Given the description of an element on the screen output the (x, y) to click on. 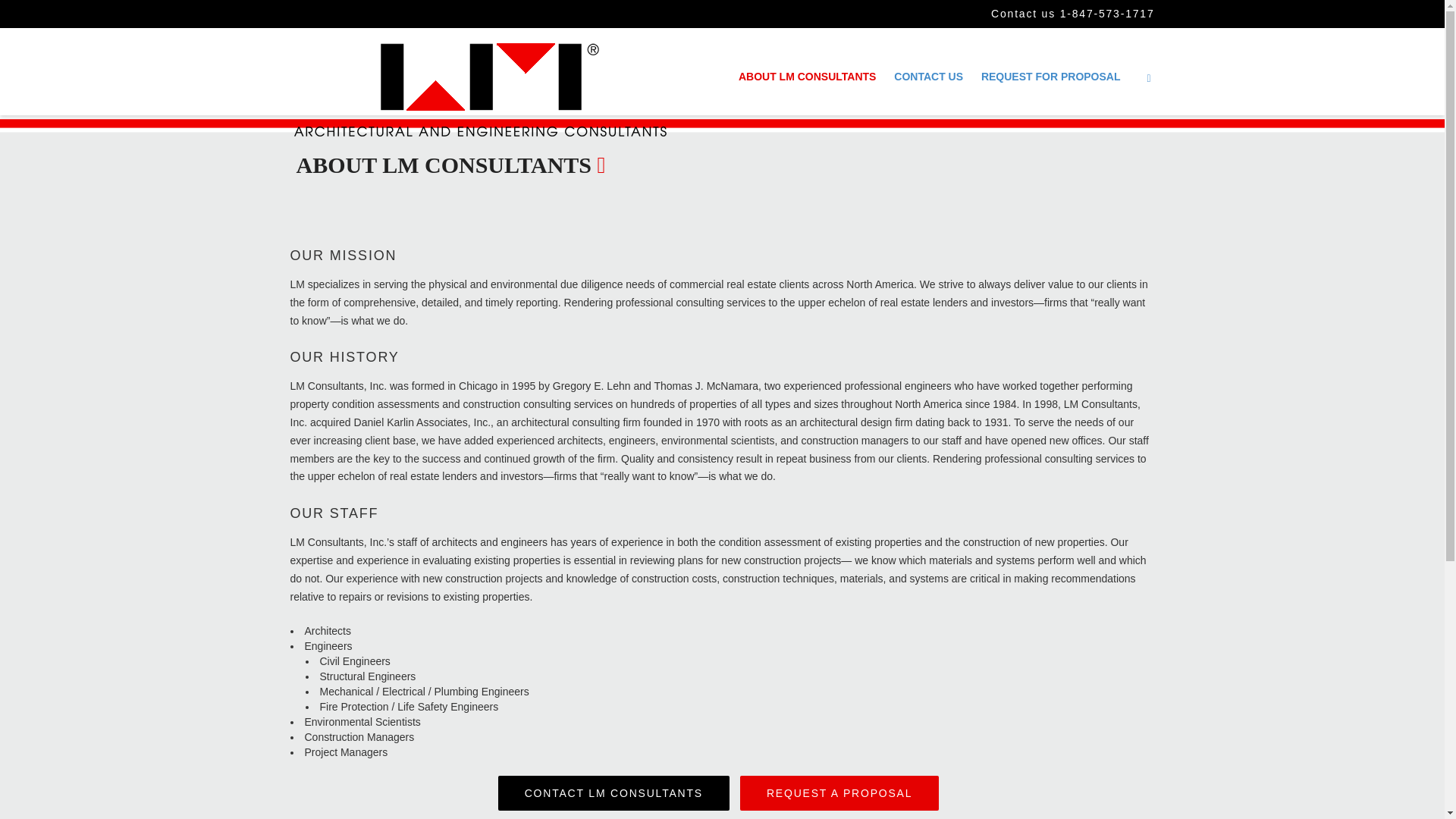
CONTACT LM CONSULTANTS (613, 792)
CONTACT US (927, 78)
ABOUT LM CONSULTANTS (807, 78)
REQUEST A PROPOSAL (839, 792)
REQUEST FOR PROPOSAL (1051, 78)
